Given the description of an element on the screen output the (x, y) to click on. 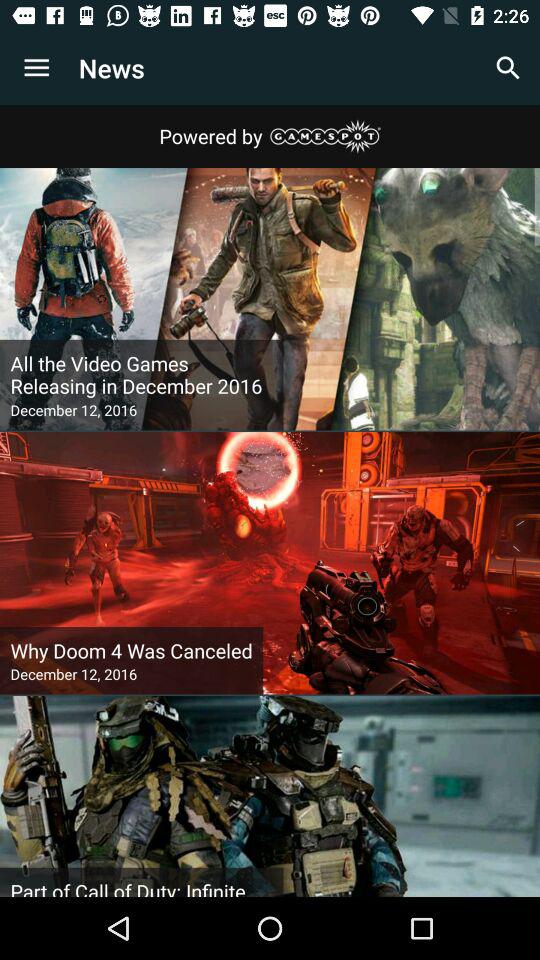
turn off app to the right of the news icon (508, 67)
